Given the description of an element on the screen output the (x, y) to click on. 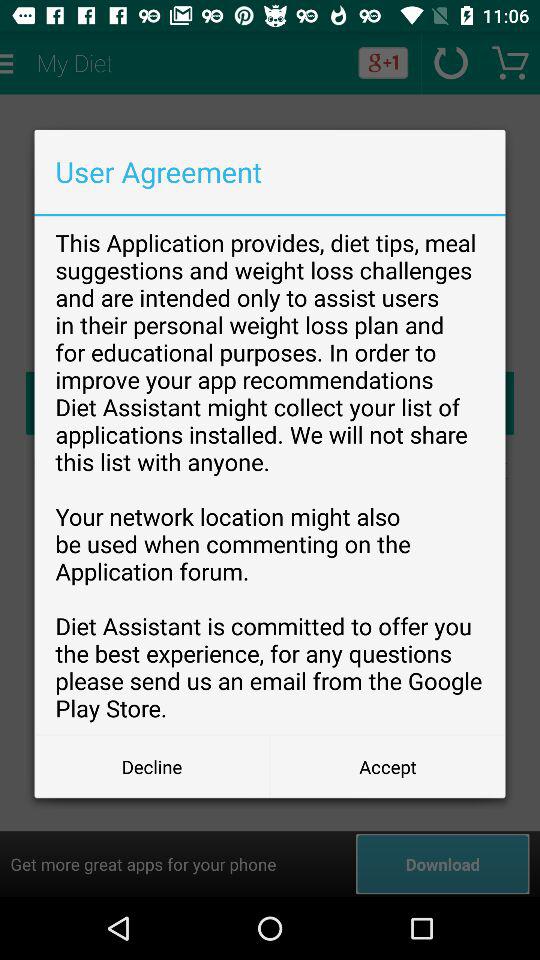
turn on icon to the right of the decline item (387, 766)
